Given the description of an element on the screen output the (x, y) to click on. 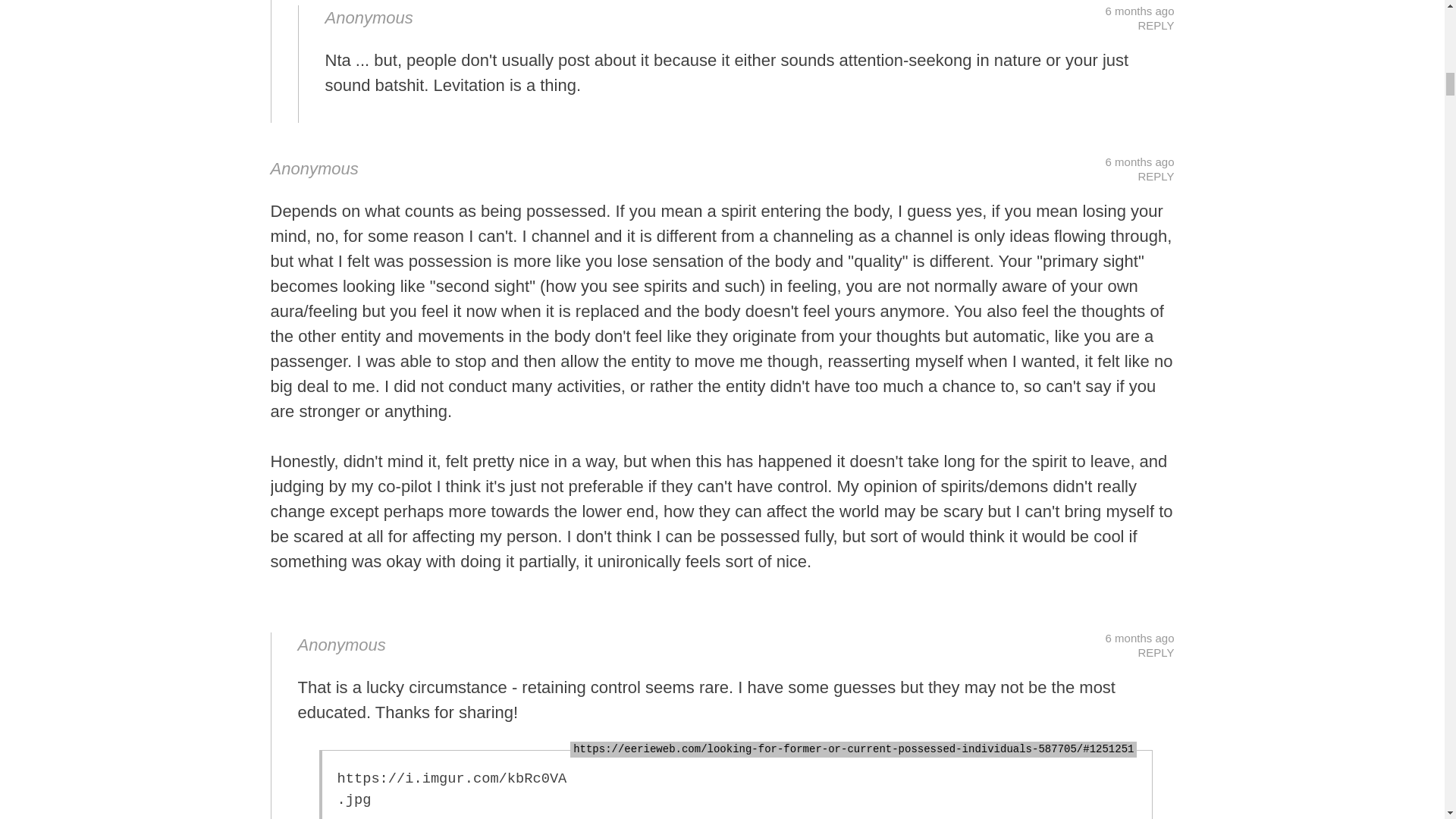
REPLY (1155, 24)
REPLY (1155, 175)
REPLY (1155, 652)
